Given the description of an element on the screen output the (x, y) to click on. 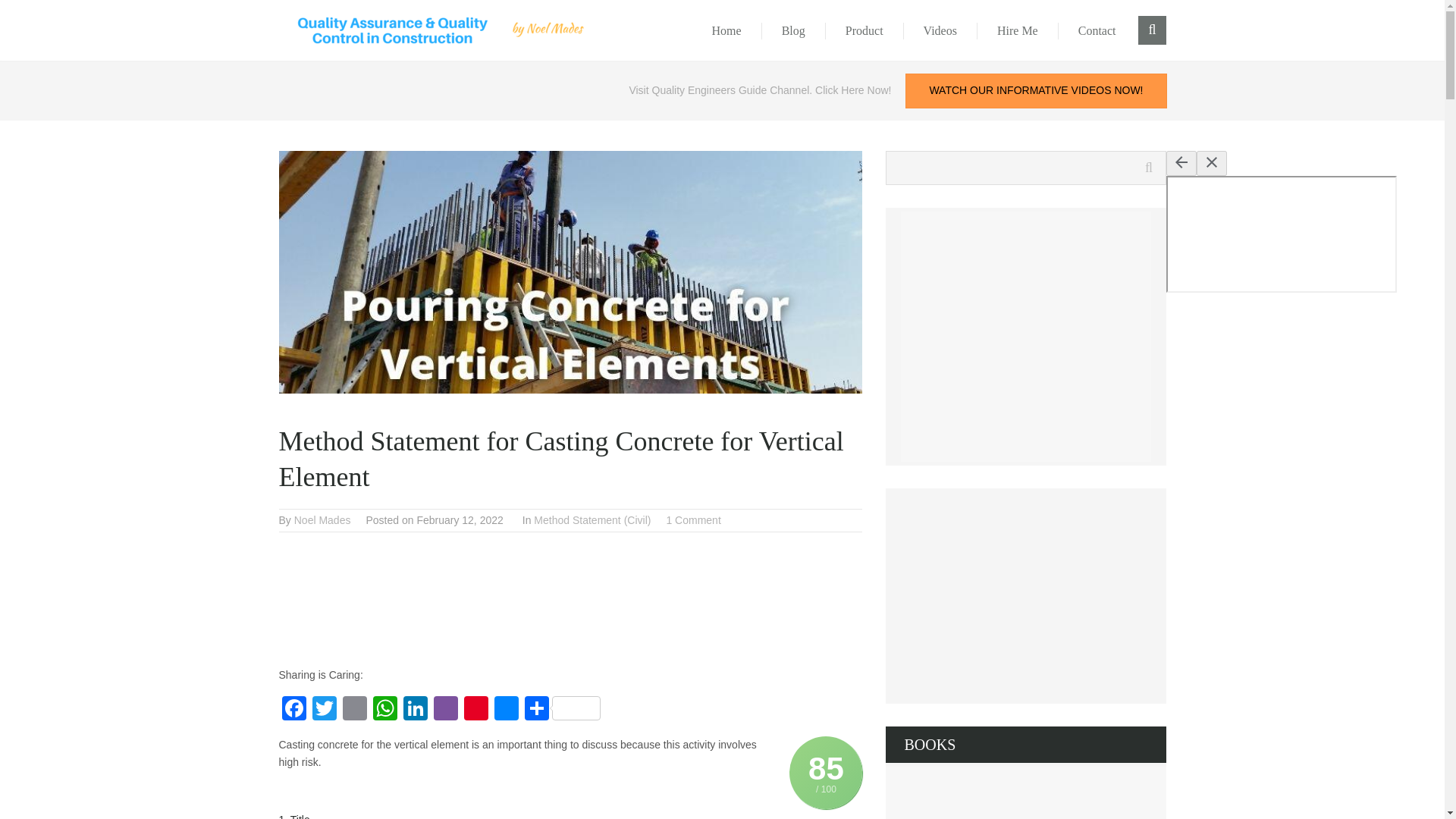
Noel Mades (322, 520)
Videos (940, 30)
Facebook (293, 709)
Facebook (293, 709)
Hire Me (1017, 30)
1 Comment (692, 520)
Posts by Noel Mades (322, 520)
Messenger (506, 709)
WhatsApp (384, 709)
Pinterest (476, 709)
